Given the description of an element on the screen output the (x, y) to click on. 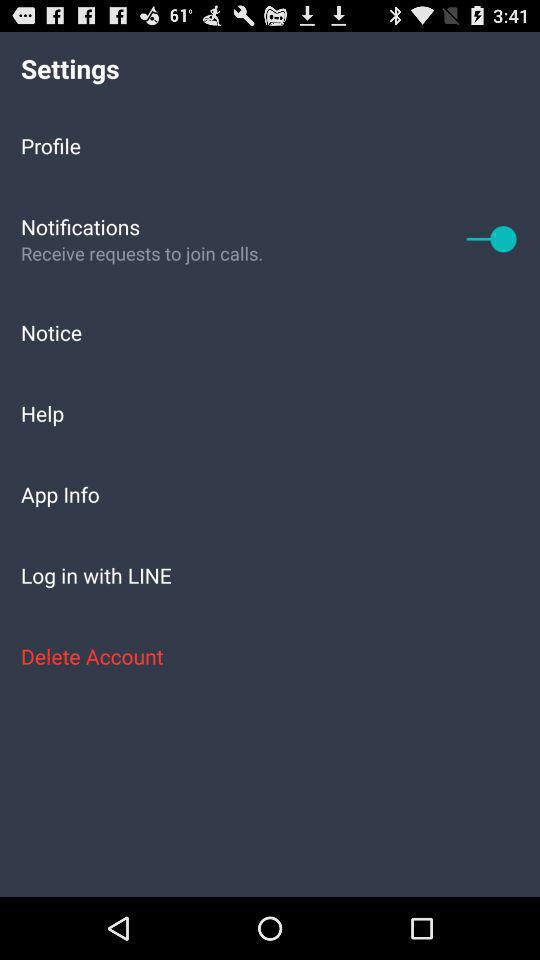
flip until the app info app (270, 493)
